Given the description of an element on the screen output the (x, y) to click on. 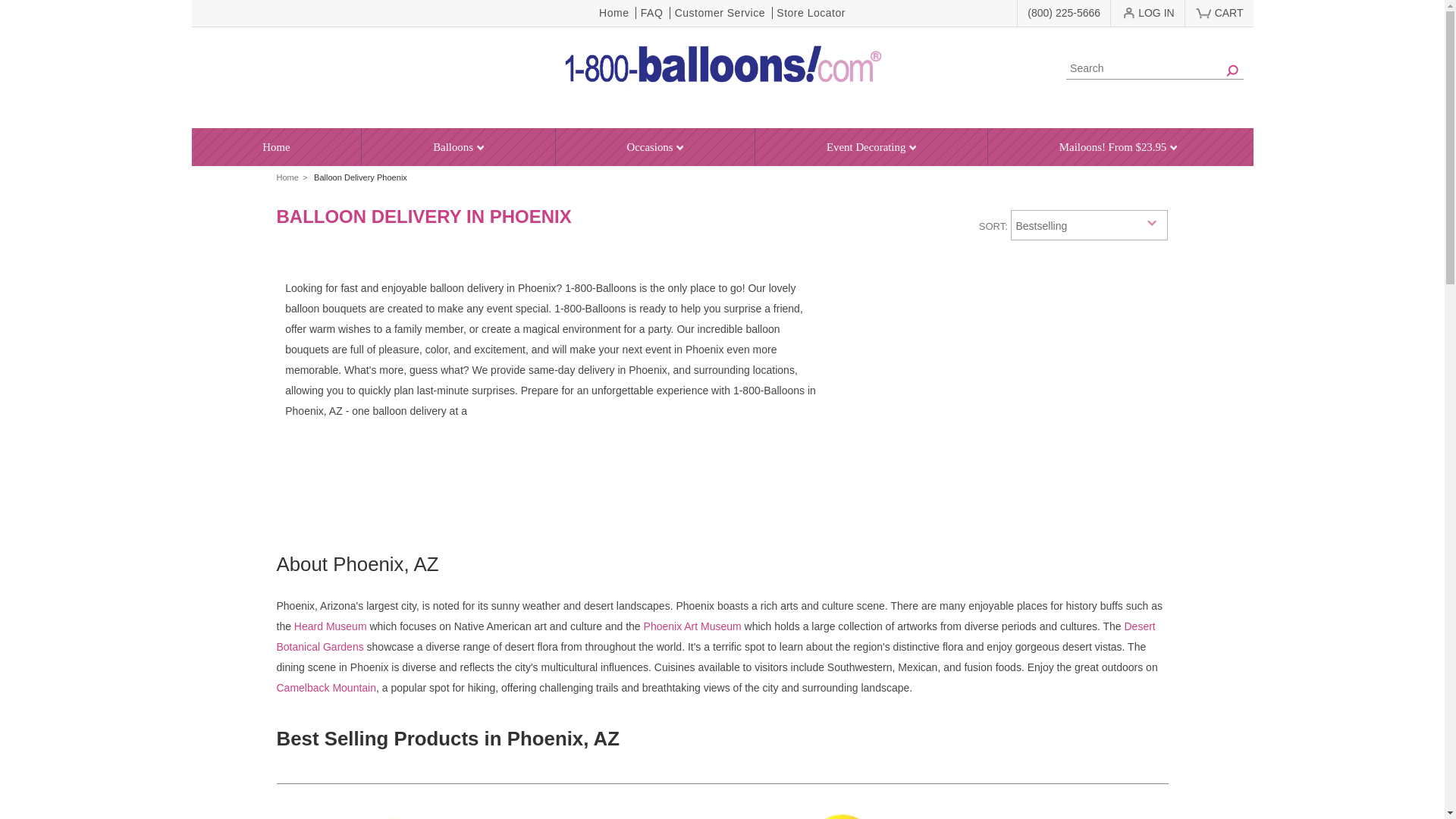
LOG IN (1147, 13)
Customer Service (718, 12)
Store Locator (809, 12)
Sort By (1088, 224)
Home (614, 12)
CART (1228, 9)
Go (1232, 69)
FAQ (650, 12)
Balloons (457, 146)
Search (1154, 68)
Occasions (655, 146)
Home (275, 146)
log In (1147, 13)
